Given the description of an element on the screen output the (x, y) to click on. 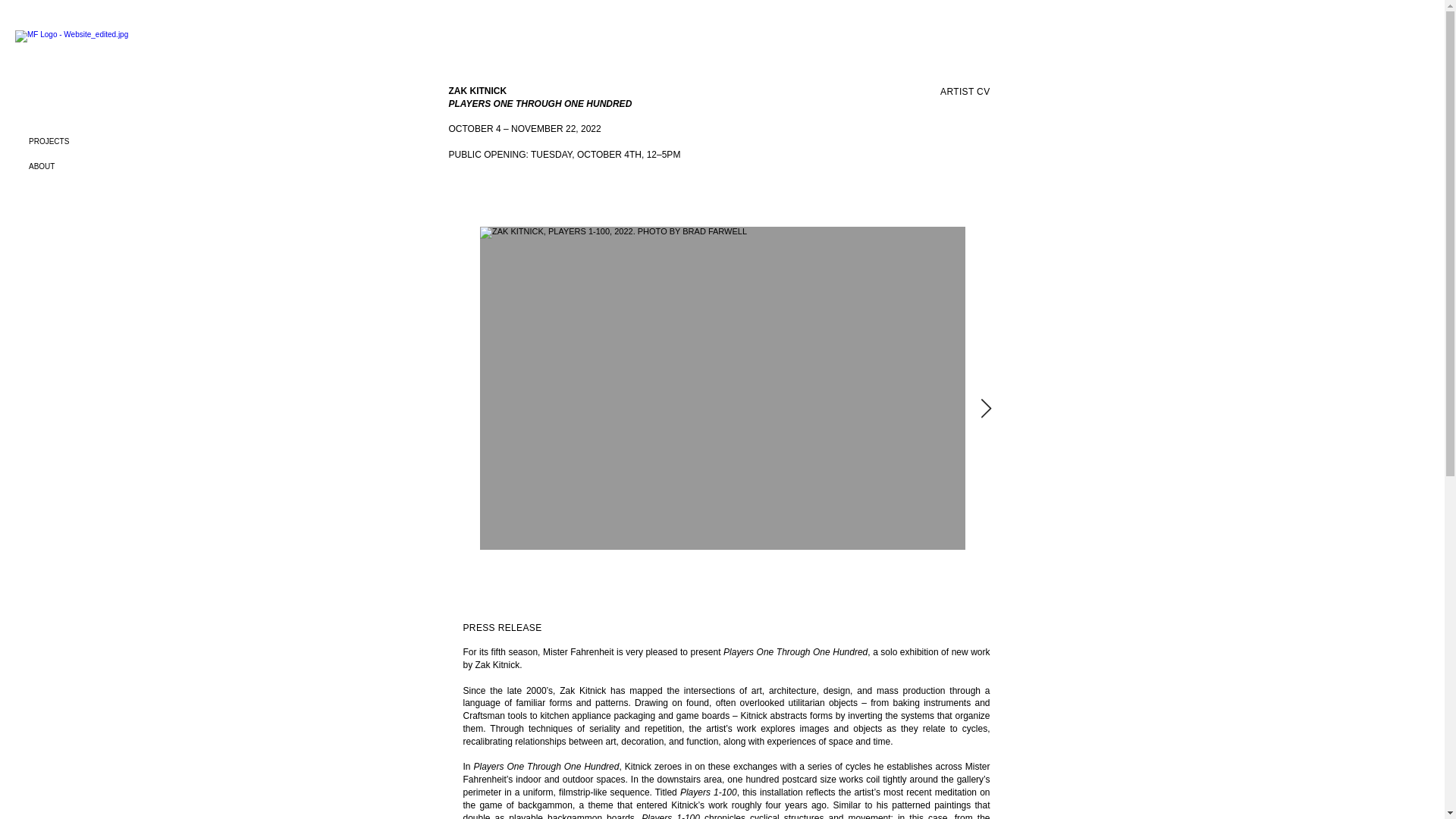
ARTIST CV (965, 91)
ABOUT (110, 166)
PROJECTS (110, 140)
